Given the description of an element on the screen output the (x, y) to click on. 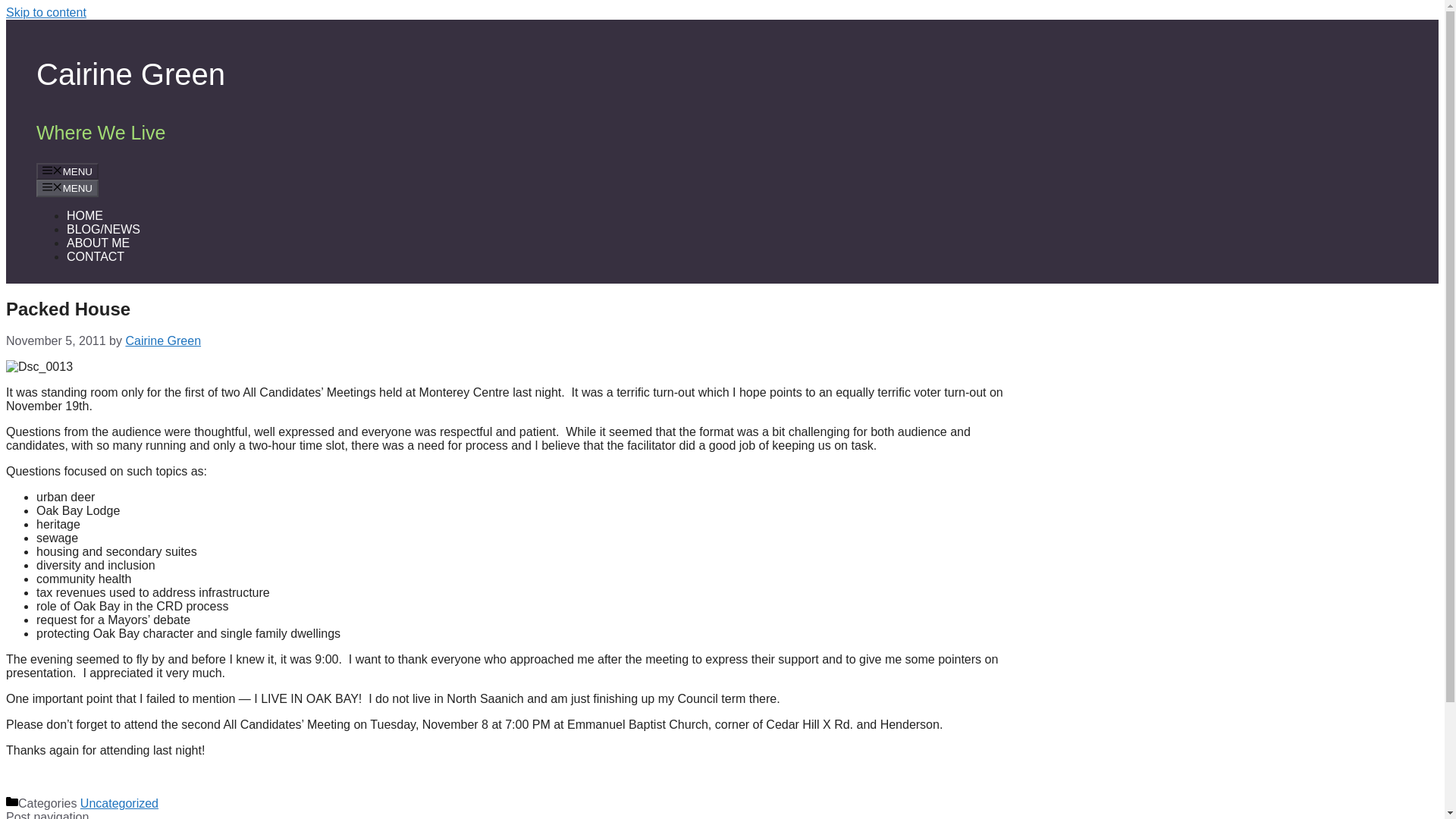
HOME (84, 215)
MENU (67, 187)
MENU (67, 170)
View all posts by Cairine Green (162, 340)
Cairine Green (162, 340)
ABOUT ME (97, 242)
Skip to content (45, 11)
Skip to content (45, 11)
CONTACT (94, 256)
Uncategorized (119, 802)
Cairine Green (130, 73)
